Given the description of an element on the screen output the (x, y) to click on. 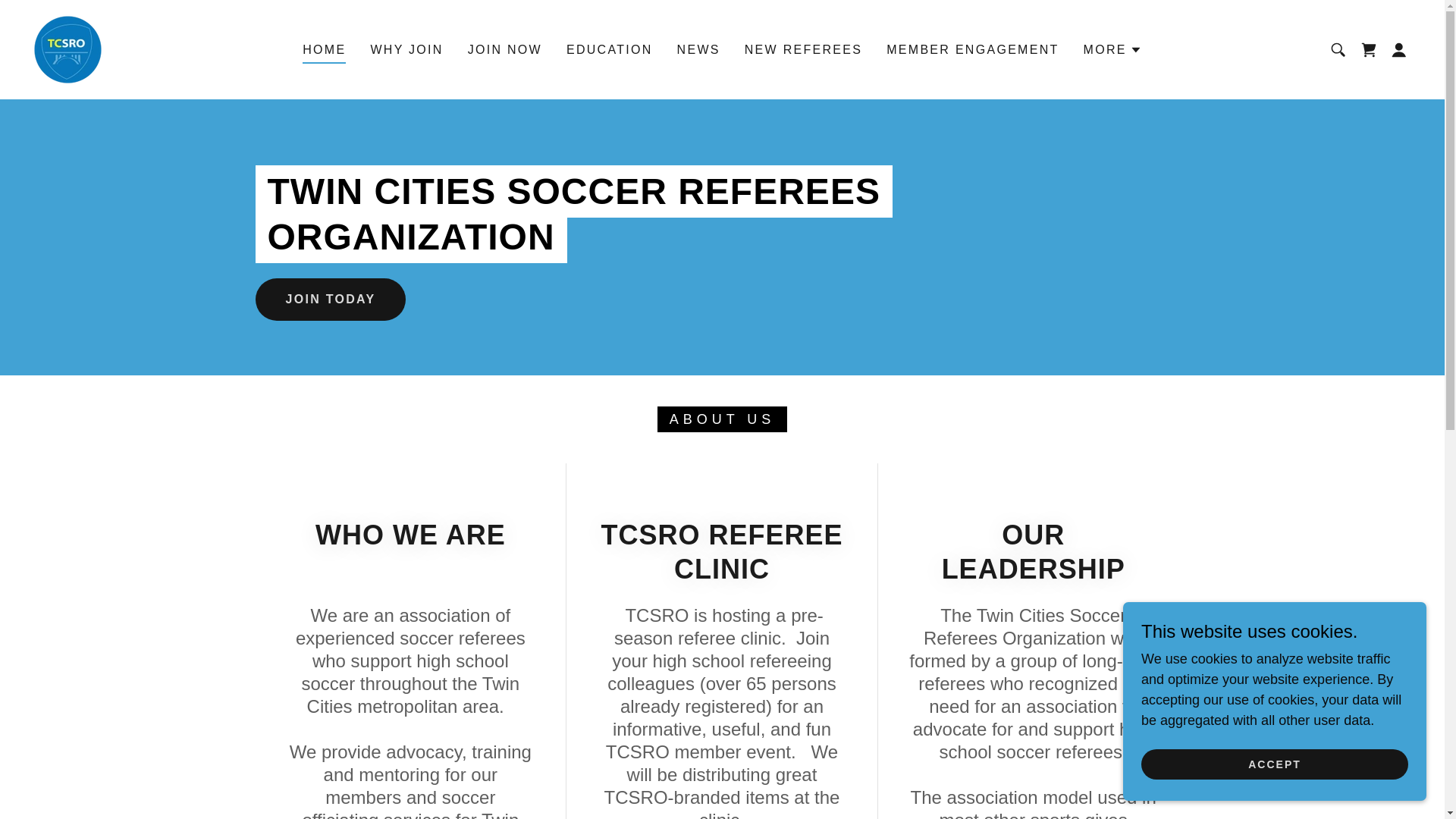
MEMBER ENGAGEMENT (972, 49)
Twin Cities Soccer Referee Organization (67, 48)
HOME (324, 51)
NEWS (698, 49)
WHY JOIN (405, 49)
NEW REFEREES (802, 49)
JOIN NOW (505, 49)
EDUCATION (610, 49)
MORE (1112, 49)
